Given the description of an element on the screen output the (x, y) to click on. 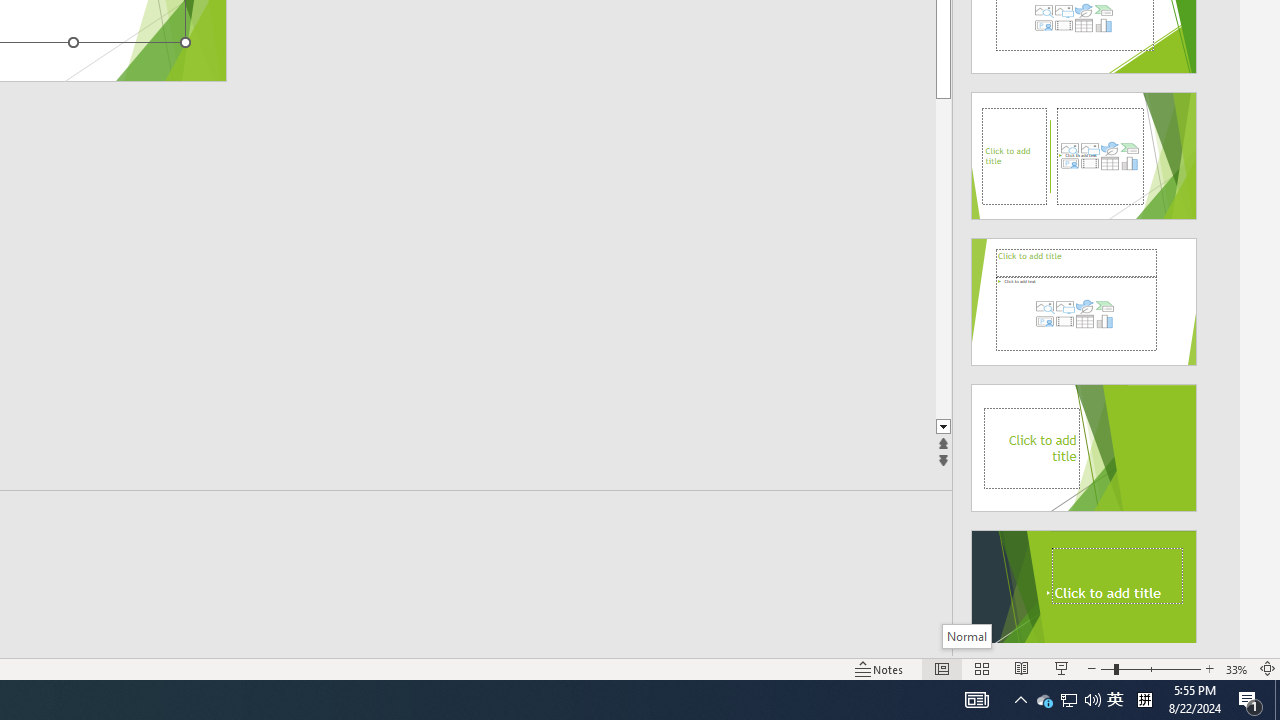
Zoom 33% (1236, 668)
